Given the description of an element on the screen output the (x, y) to click on. 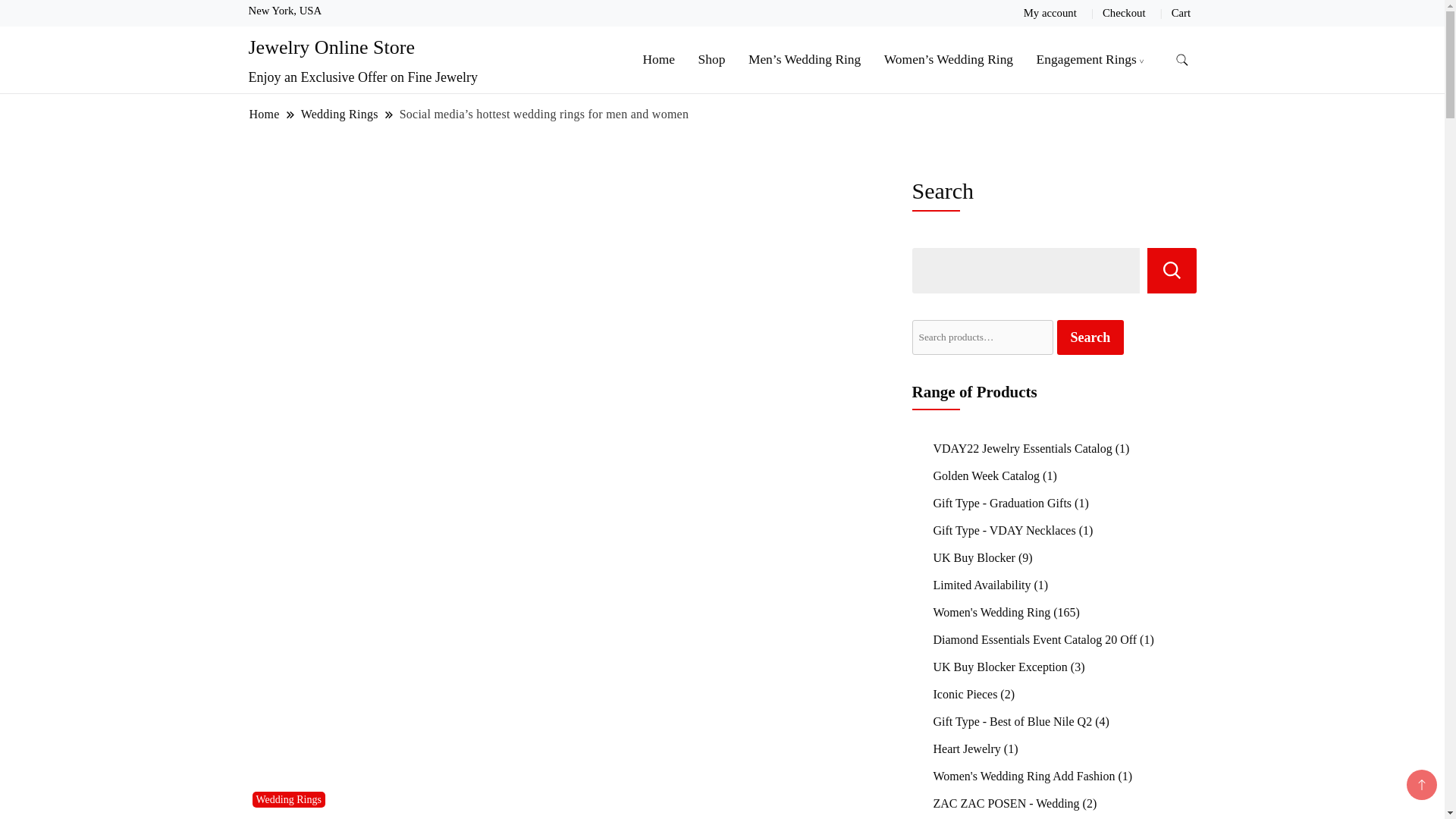
Checkout (1123, 12)
Wedding Rings (287, 799)
Jewelry Online Store (331, 47)
My account (1050, 12)
Engagement Rings (1086, 59)
Home (264, 114)
Cart (1181, 12)
Wedding Rings (338, 114)
